Given the description of an element on the screen output the (x, y) to click on. 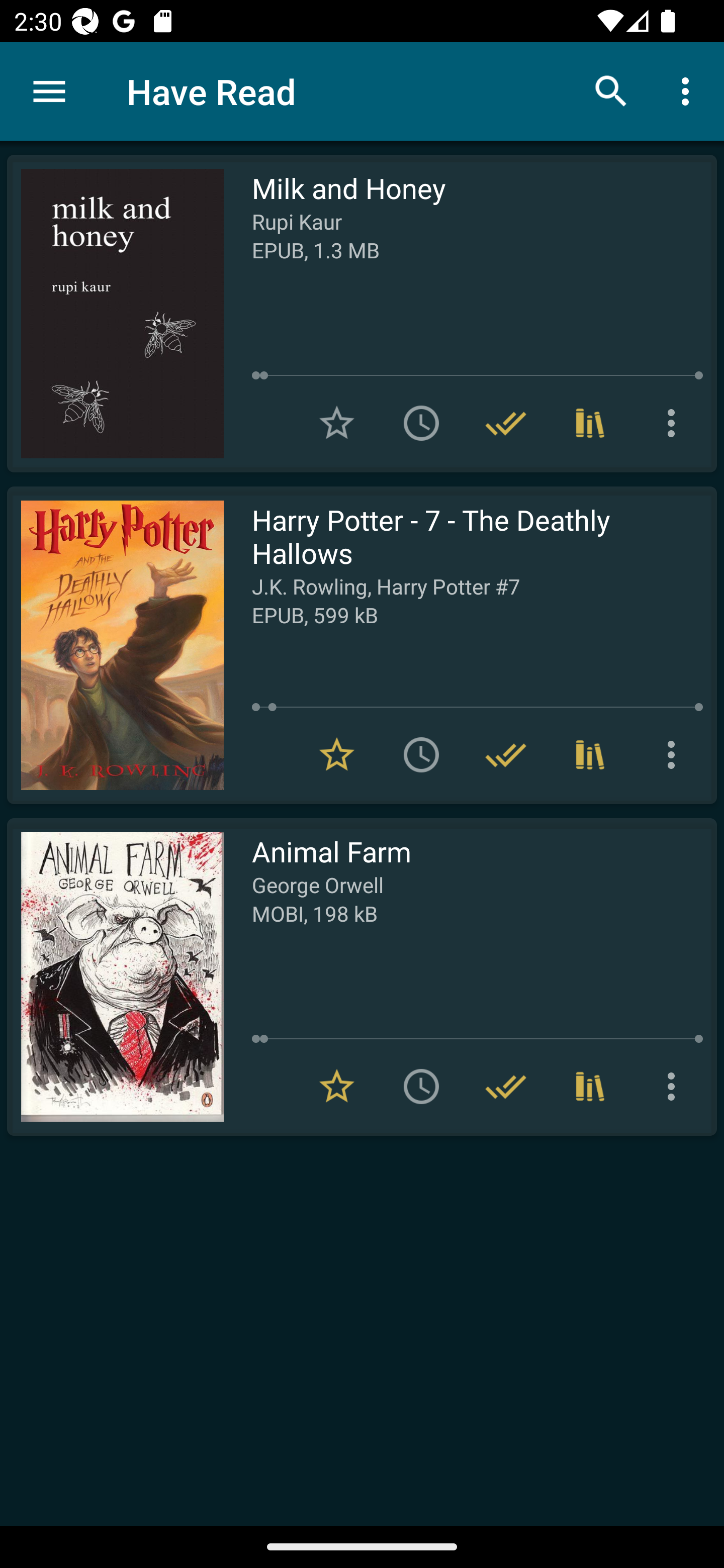
Menu (49, 91)
Search books & documents (611, 90)
More options (688, 90)
Read Milk and Honey (115, 313)
Add to Favorites (336, 423)
Add to To read (421, 423)
Remove from Have read (505, 423)
Collections (4) (590, 423)
More options (674, 423)
Read Harry Potter - 7 - The Deathly Hallows (115, 645)
Remove from Favorites (336, 753)
Add to To read (421, 753)
Remove from Have read (505, 753)
Collections (3) (590, 753)
More options (674, 753)
Read Animal Farm (115, 976)
Remove from Favorites (336, 1086)
Add to To read (421, 1086)
Remove from Have read (505, 1086)
Collections (2) (590, 1086)
More options (674, 1086)
